Given the description of an element on the screen output the (x, y) to click on. 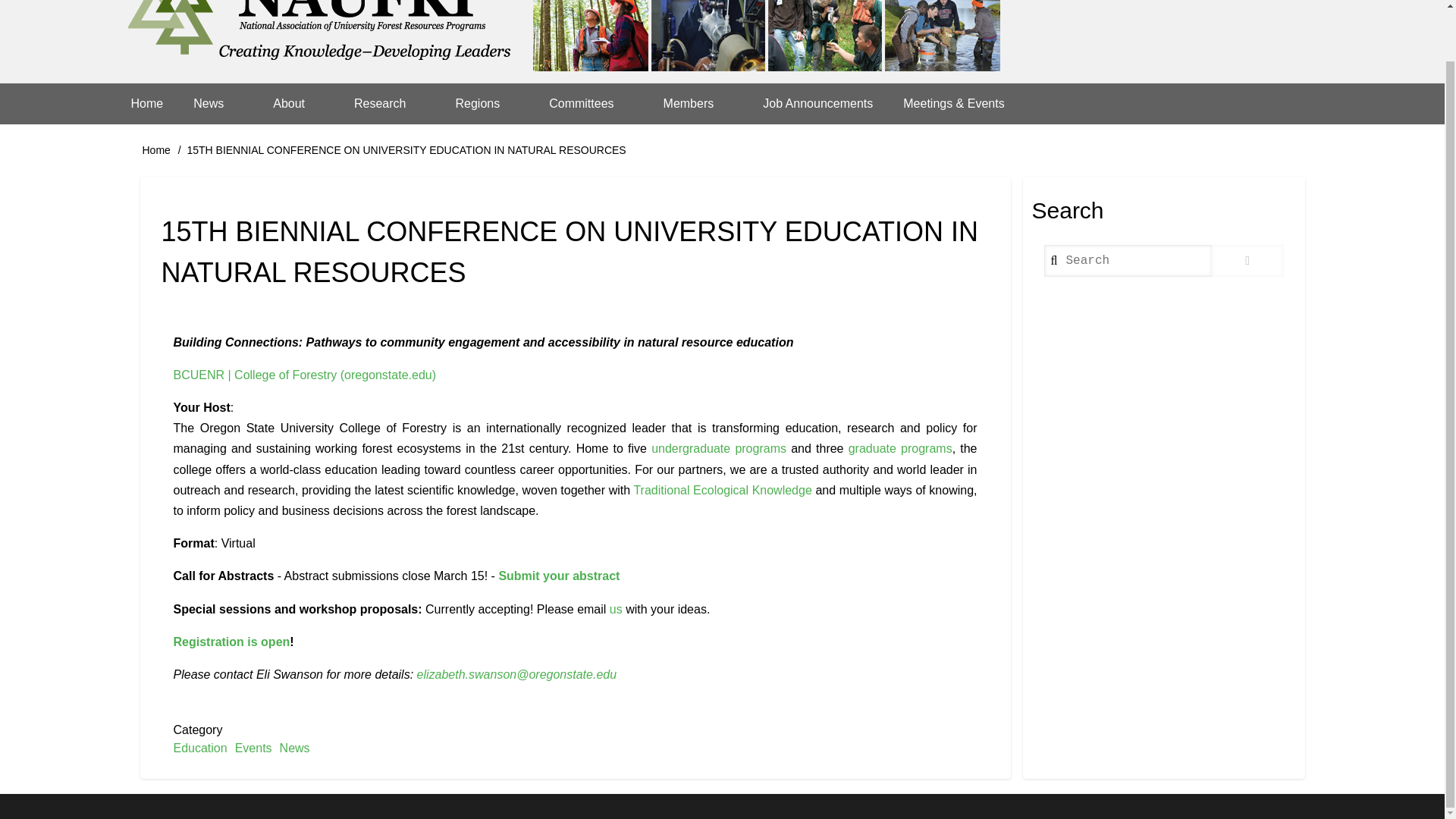
Home (146, 103)
Members (697, 103)
News (217, 103)
Home (156, 150)
Job Announcements (818, 103)
Research (389, 103)
Regions (486, 103)
Enter the terms you wish to search for. (1127, 260)
Home (563, 41)
About (298, 103)
Committees (590, 103)
